Given the description of an element on the screen output the (x, y) to click on. 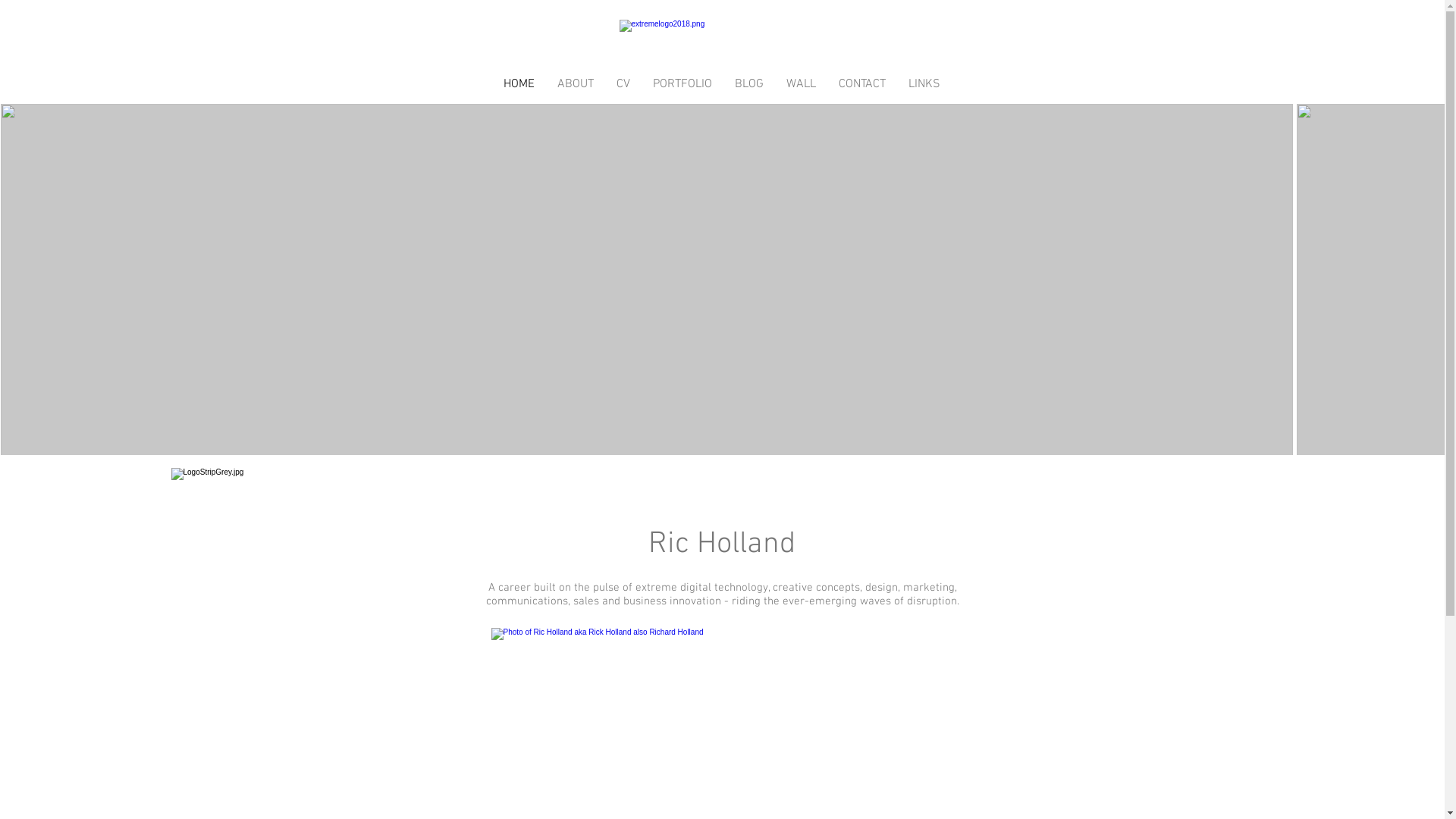
BLOG Element type: text (749, 84)
LINKS Element type: text (923, 84)
CONTACT Element type: text (861, 84)
WALL Element type: text (801, 84)
ABOUT Element type: text (575, 84)
HOME Element type: text (518, 84)
PORTFOLIO Element type: text (682, 84)
CV Element type: text (623, 84)
